Given the description of an element on the screen output the (x, y) to click on. 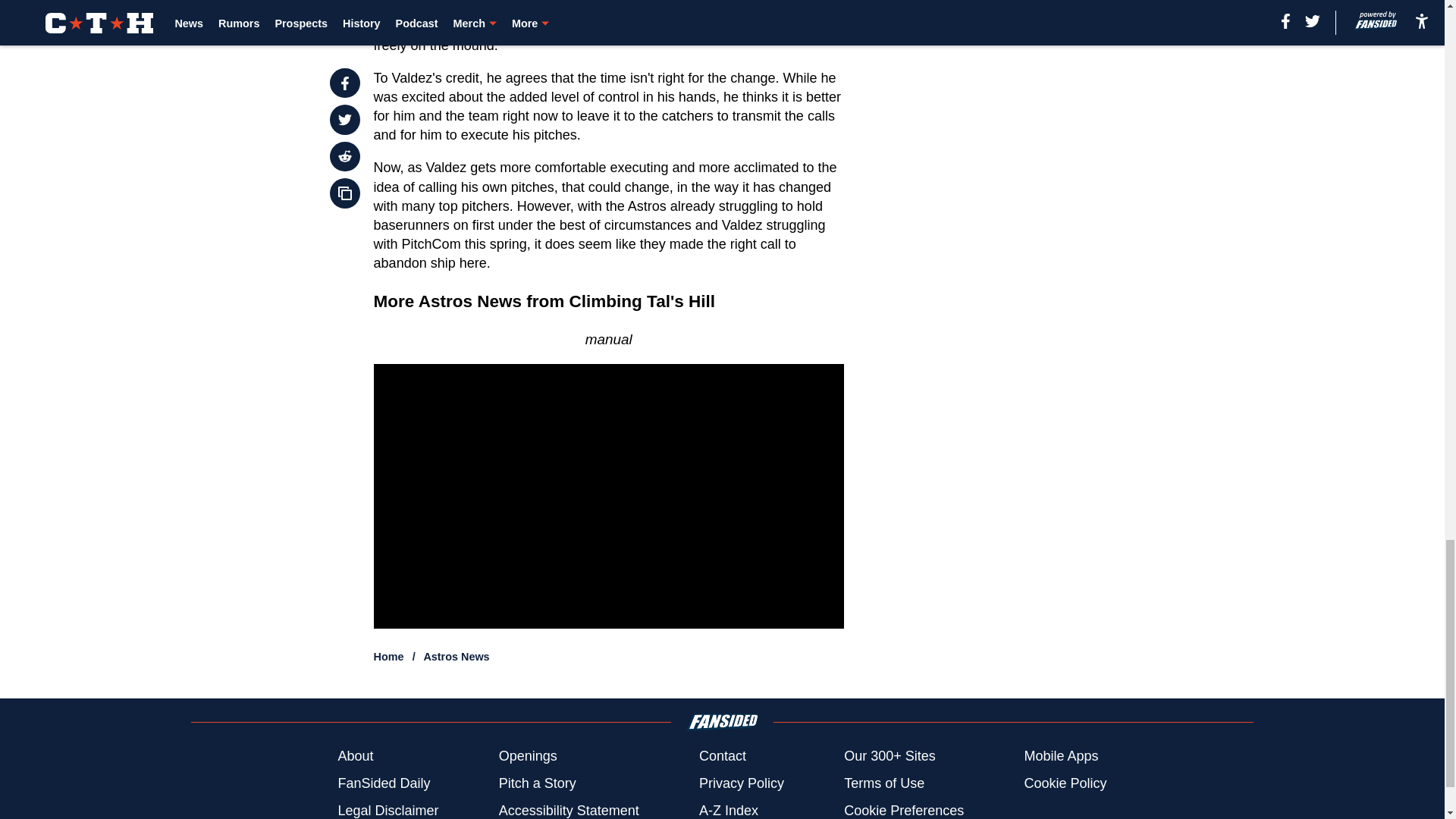
Astros News (456, 656)
About (354, 755)
Home (389, 656)
